Given the description of an element on the screen output the (x, y) to click on. 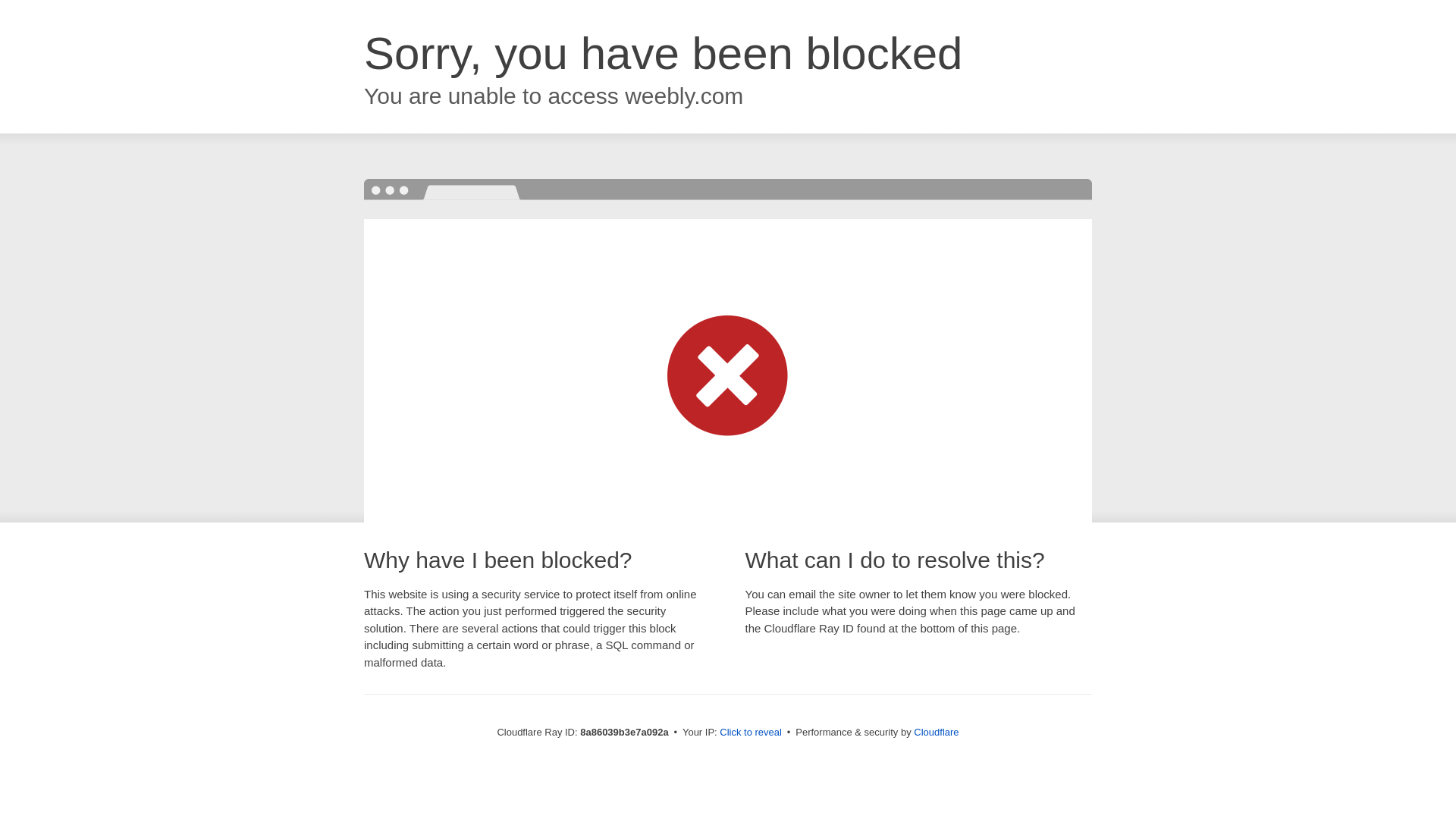
Click to reveal (750, 732)
Cloudflare (936, 731)
